Given the description of an element on the screen output the (x, y) to click on. 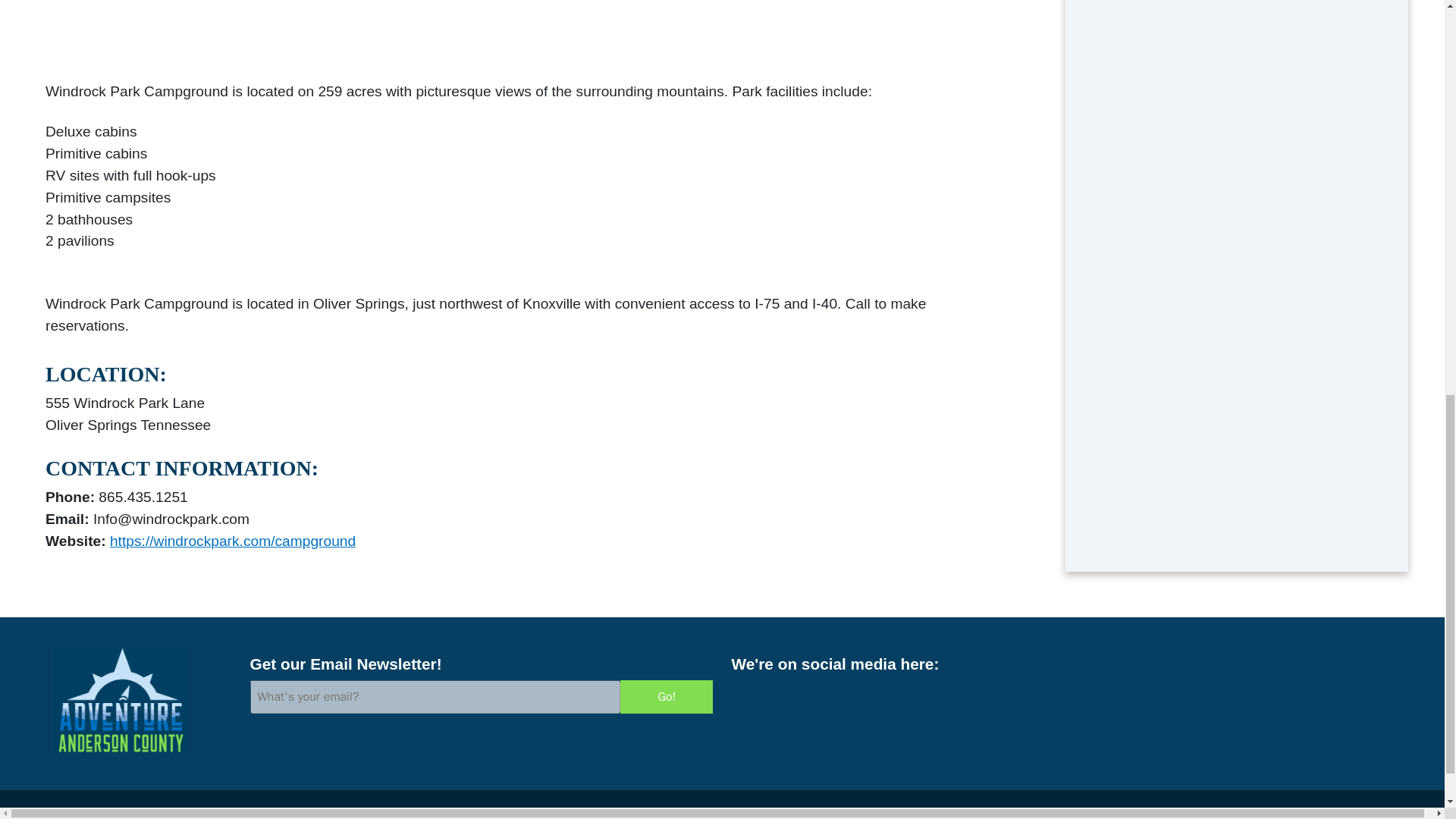
Go! (666, 696)
Go! (666, 696)
